Given the description of an element on the screen output the (x, y) to click on. 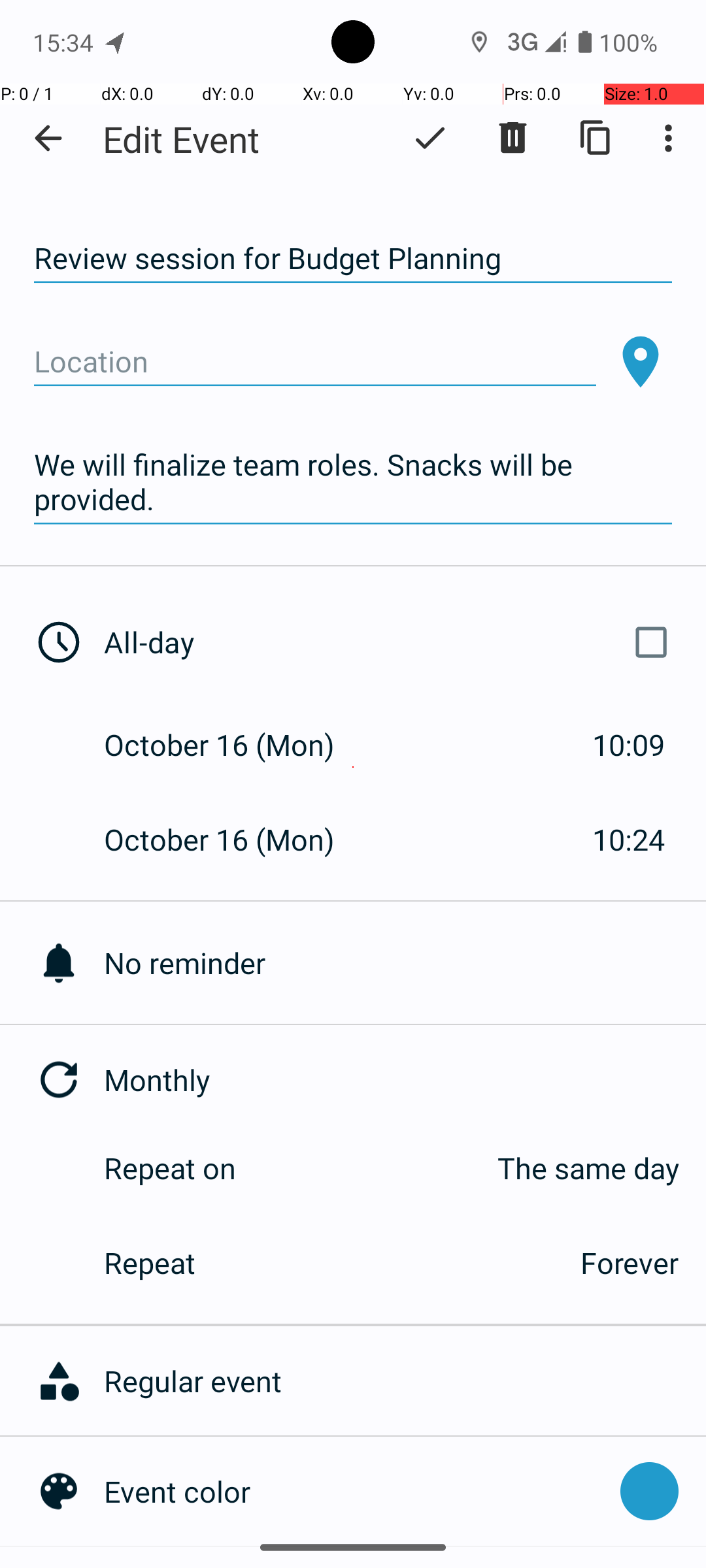
Review session for Budget Planning Element type: android.widget.EditText (352, 258)
We will finalize team roles. Snacks will be provided. Element type: android.widget.EditText (352, 482)
October 16 (Mon) Element type: android.widget.TextView (232, 744)
10:09 Element type: android.widget.TextView (628, 744)
10:24 Element type: android.widget.TextView (628, 838)
Monthly Element type: android.widget.TextView (404, 1079)
Repeat on Element type: android.widget.TextView (169, 1167)
The same day Element type: android.widget.TextView (470, 1167)
Repeat Element type: android.widget.TextView (328, 1262)
Forever Element type: android.widget.TextView (629, 1262)
